Given the description of an element on the screen output the (x, y) to click on. 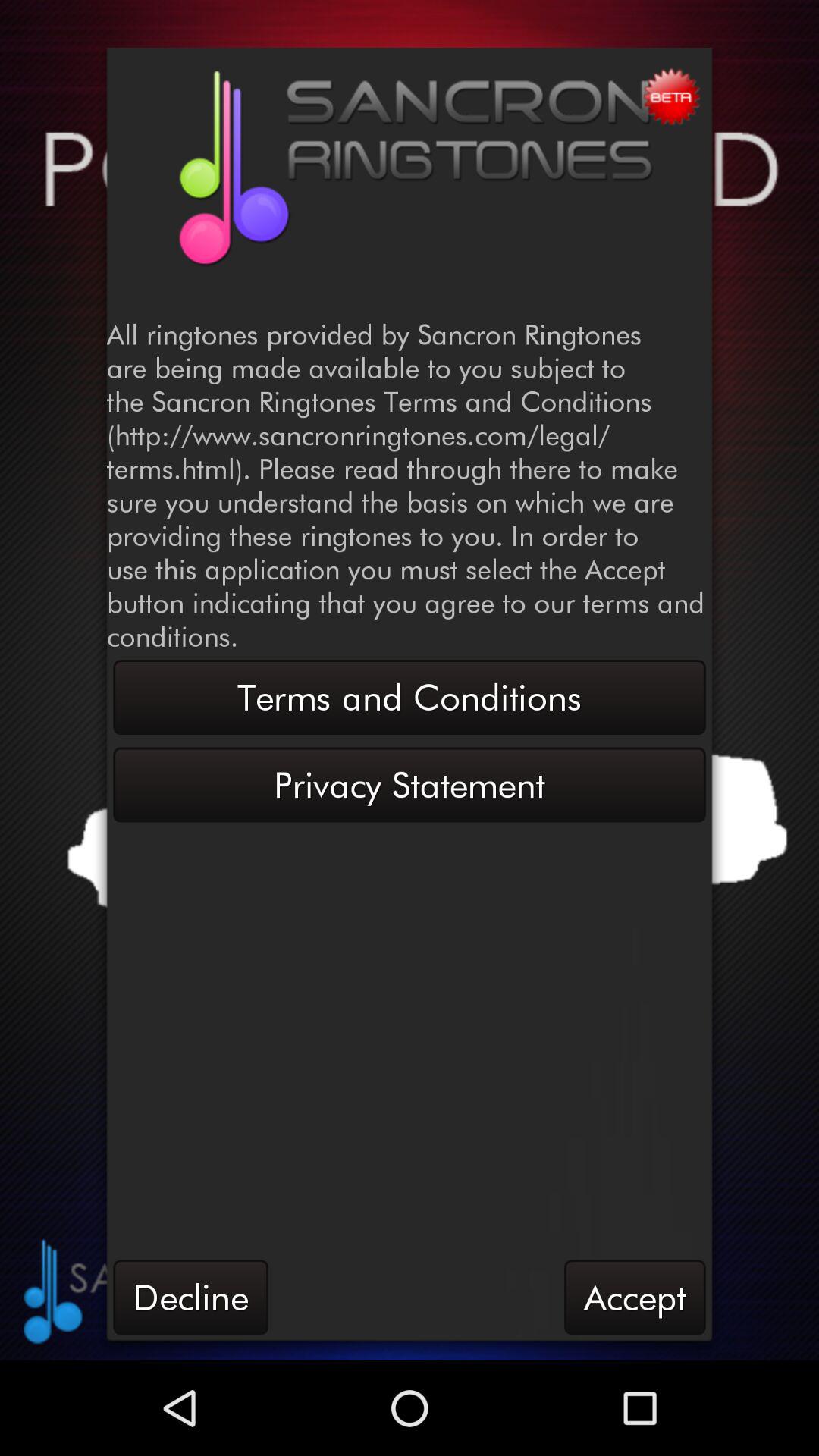
press the decline item (190, 1296)
